Given the description of an element on the screen output the (x, y) to click on. 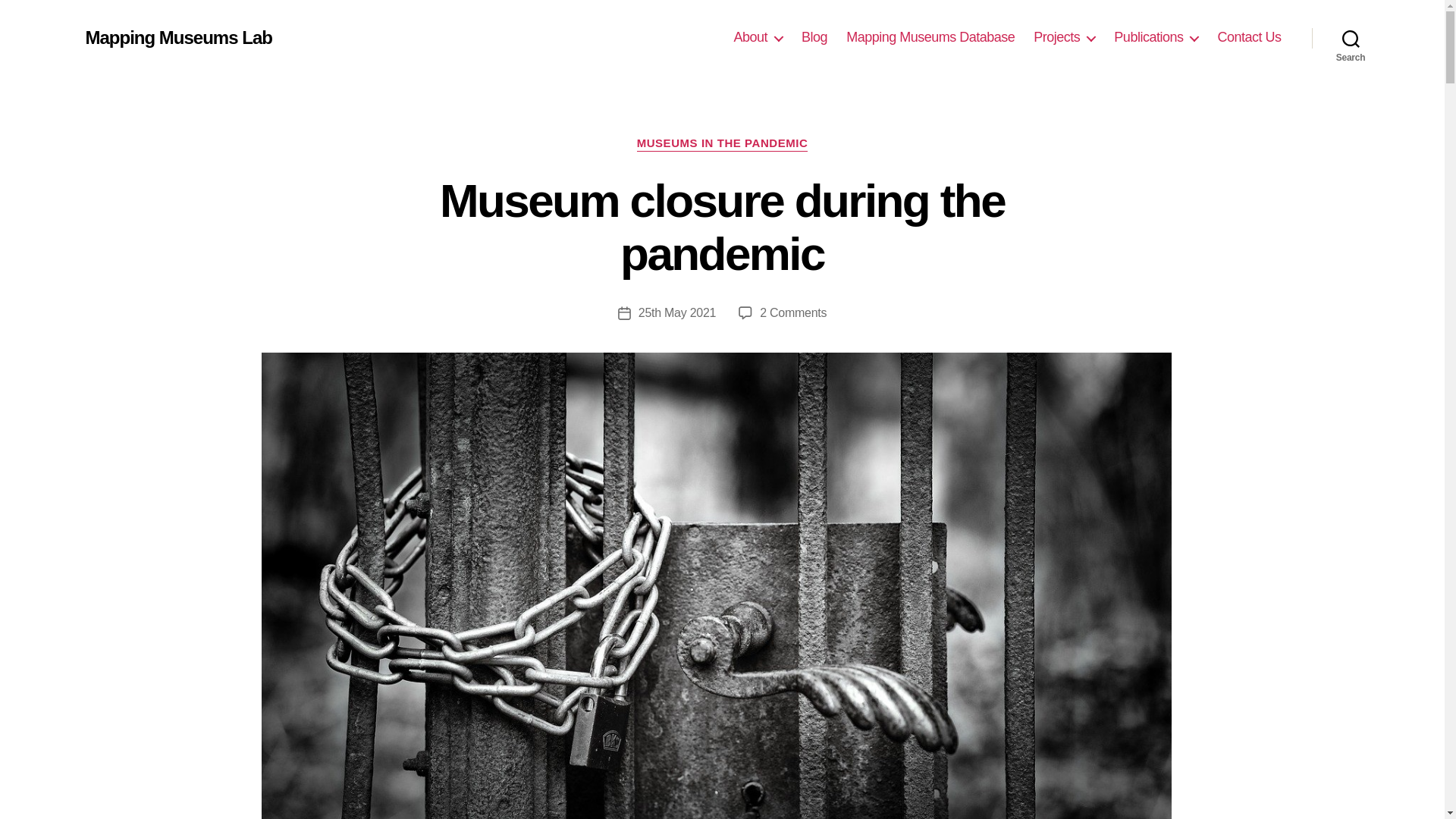
Blog (814, 37)
Projects (1063, 37)
Search (1350, 37)
Mapping Museums Database (929, 37)
Publications (1155, 37)
Contact Us (1249, 37)
Mapping Museums Lab (177, 37)
About (758, 37)
